Given the description of an element on the screen output the (x, y) to click on. 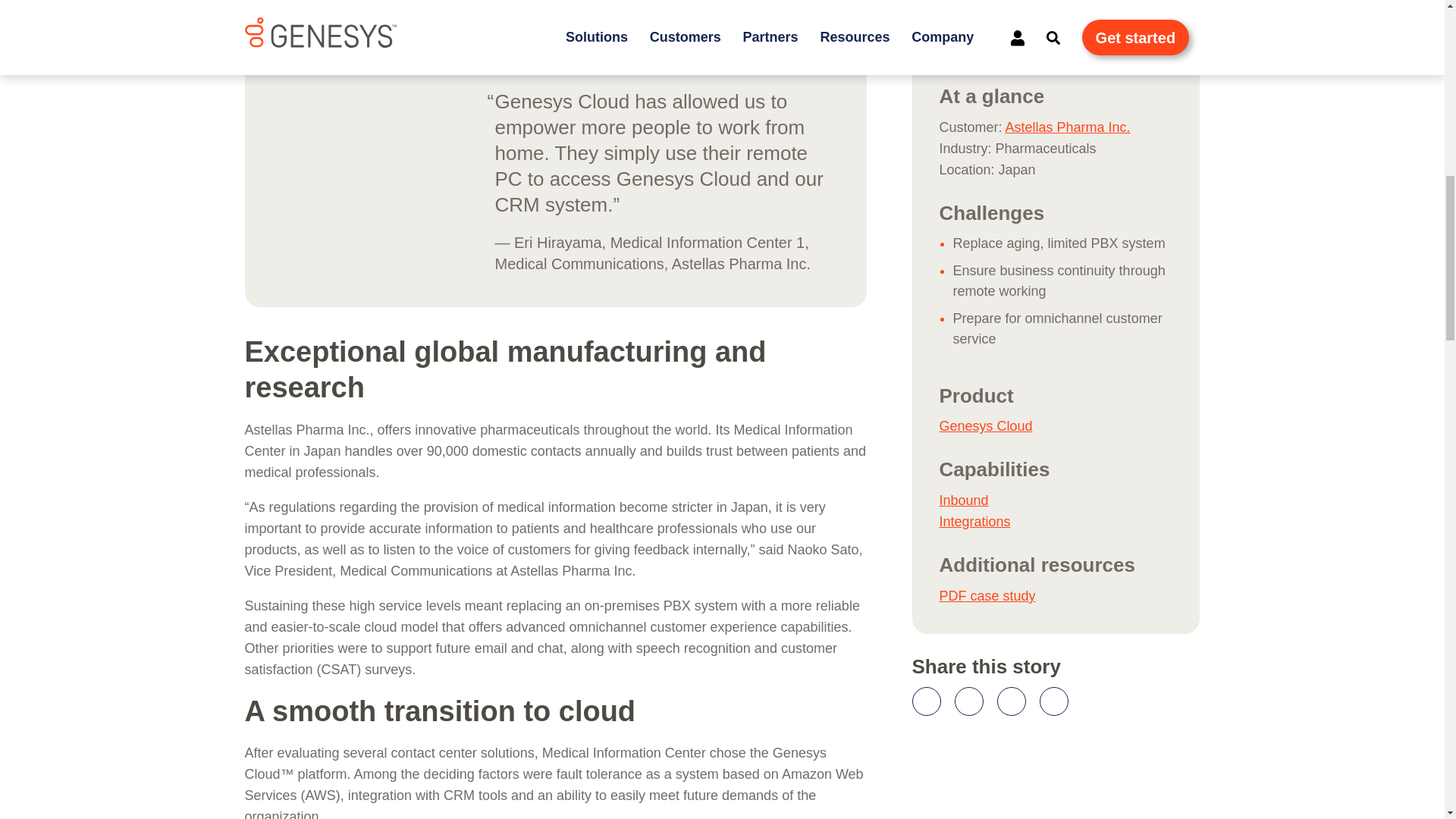
Share by Email (1053, 701)
